Given the description of an element on the screen output the (x, y) to click on. 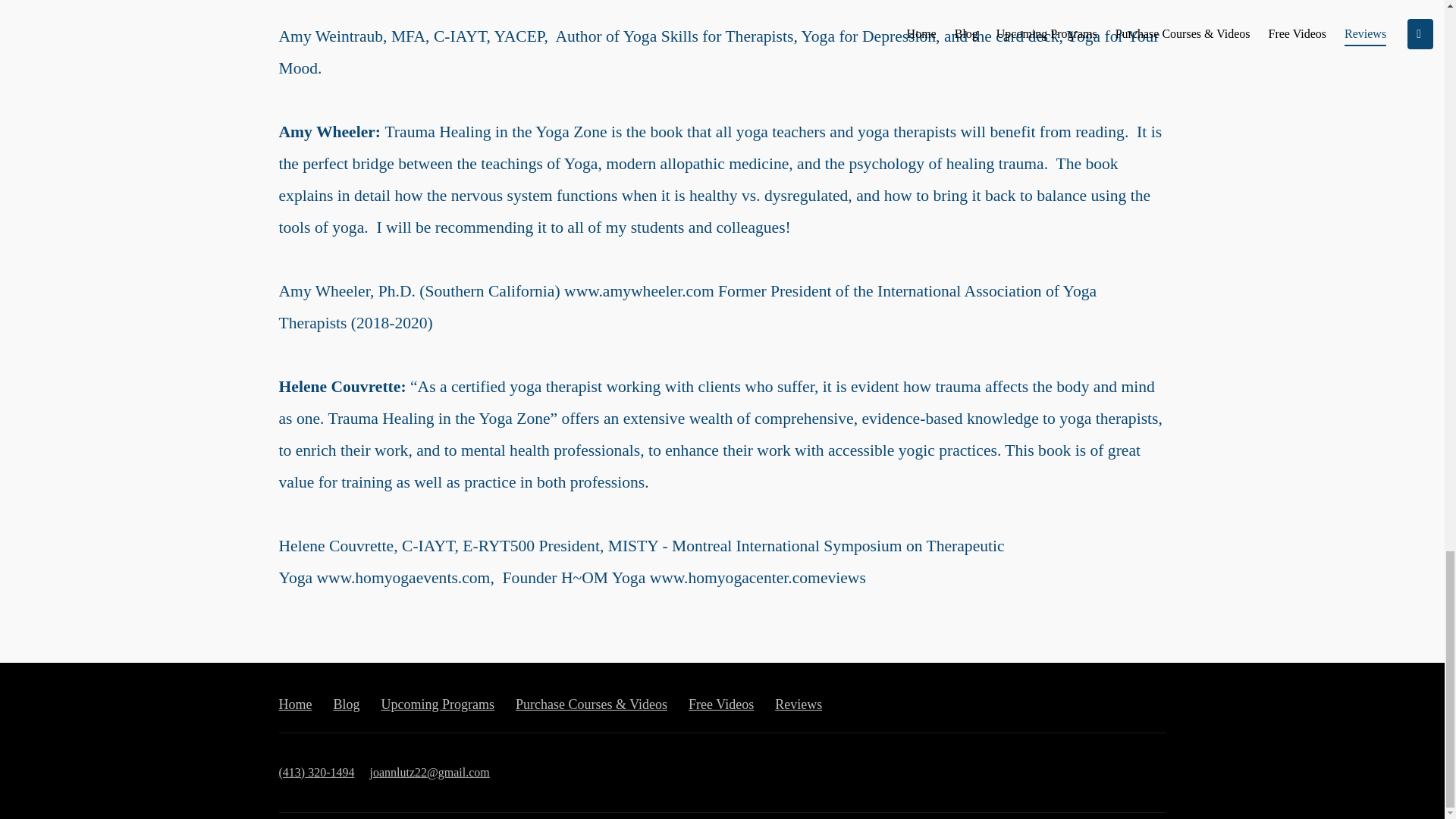
Free Videos (721, 703)
Upcoming Programs (438, 703)
Blog (346, 703)
Home (296, 703)
Reviews (798, 703)
